Given the description of an element on the screen output the (x, y) to click on. 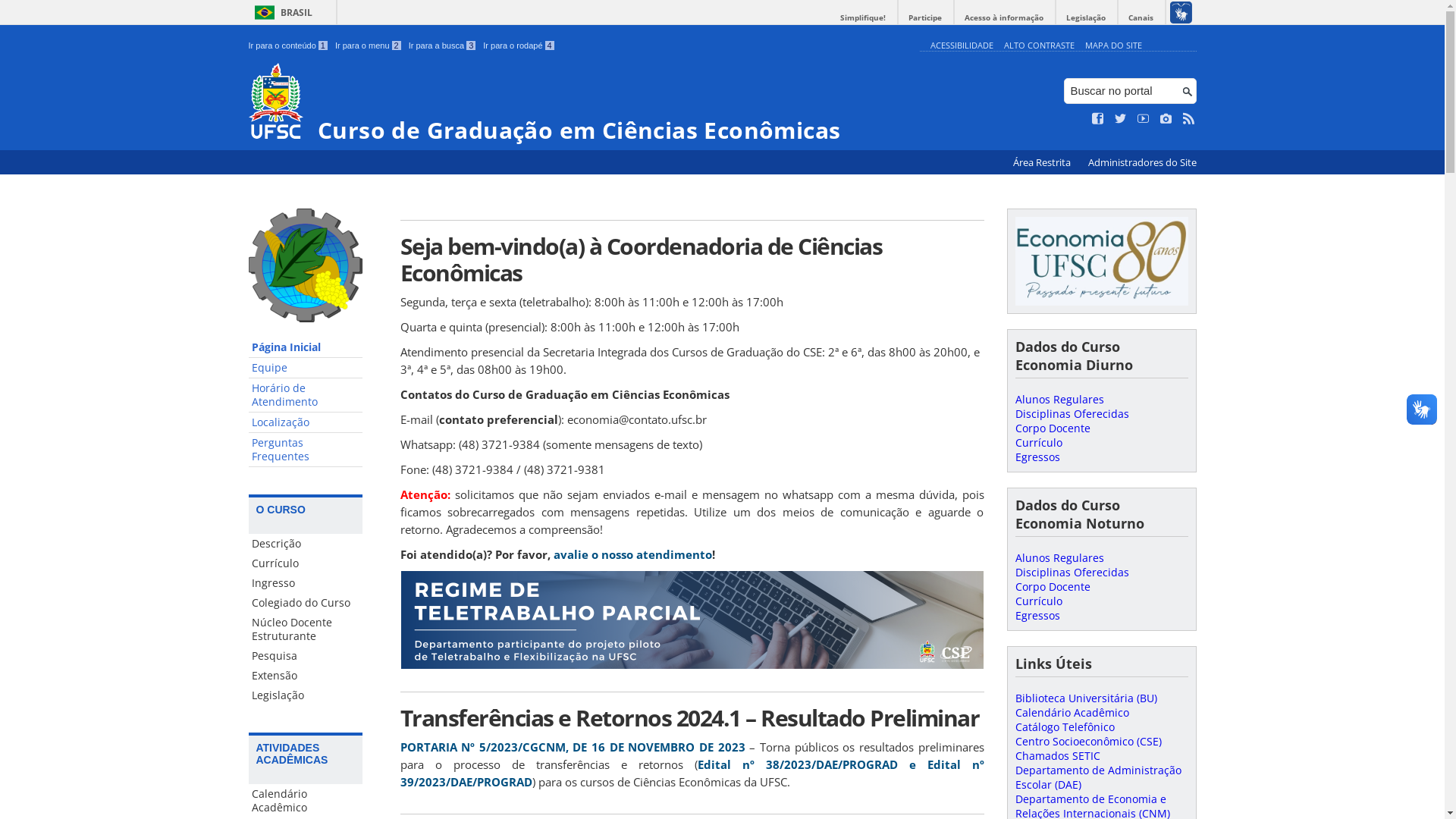
Administradores do Site Element type: text (1141, 162)
Pesquisa Element type: text (305, 655)
Colegiado do Curso Element type: text (305, 602)
Ir para o menu 2 Element type: text (368, 45)
Disciplinas Oferecidas Element type: text (1071, 413)
Egressos Element type: text (1036, 615)
ACESSIBILIDADE Element type: text (960, 44)
Canais Element type: text (1140, 18)
Corpo Docente Element type: text (1051, 427)
Perguntas Frequentes Element type: text (305, 450)
Chamados SETIC Element type: text (1056, 755)
avalie o nosso atendimento Element type: text (632, 553)
MAPA DO SITE Element type: text (1112, 44)
Disciplinas Oferecidas Element type: text (1071, 571)
Participe Element type: text (924, 18)
Curta no Facebook Element type: hover (1098, 118)
Alunos Regulares Element type: text (1058, 557)
Siga no Twitter Element type: hover (1120, 118)
Corpo Docente Element type: text (1051, 586)
Egressos Element type: text (1036, 456)
Ingresso Element type: text (305, 583)
Simplifique! Element type: text (862, 18)
Ir para a busca 3 Element type: text (442, 45)
Veja no Instagram Element type: hover (1166, 118)
ALTO CONTRASTE Element type: text (1039, 44)
BRASIL Element type: text (280, 12)
Equipe Element type: text (305, 367)
Alunos Regulares Element type: text (1058, 399)
